Given the description of an element on the screen output the (x, y) to click on. 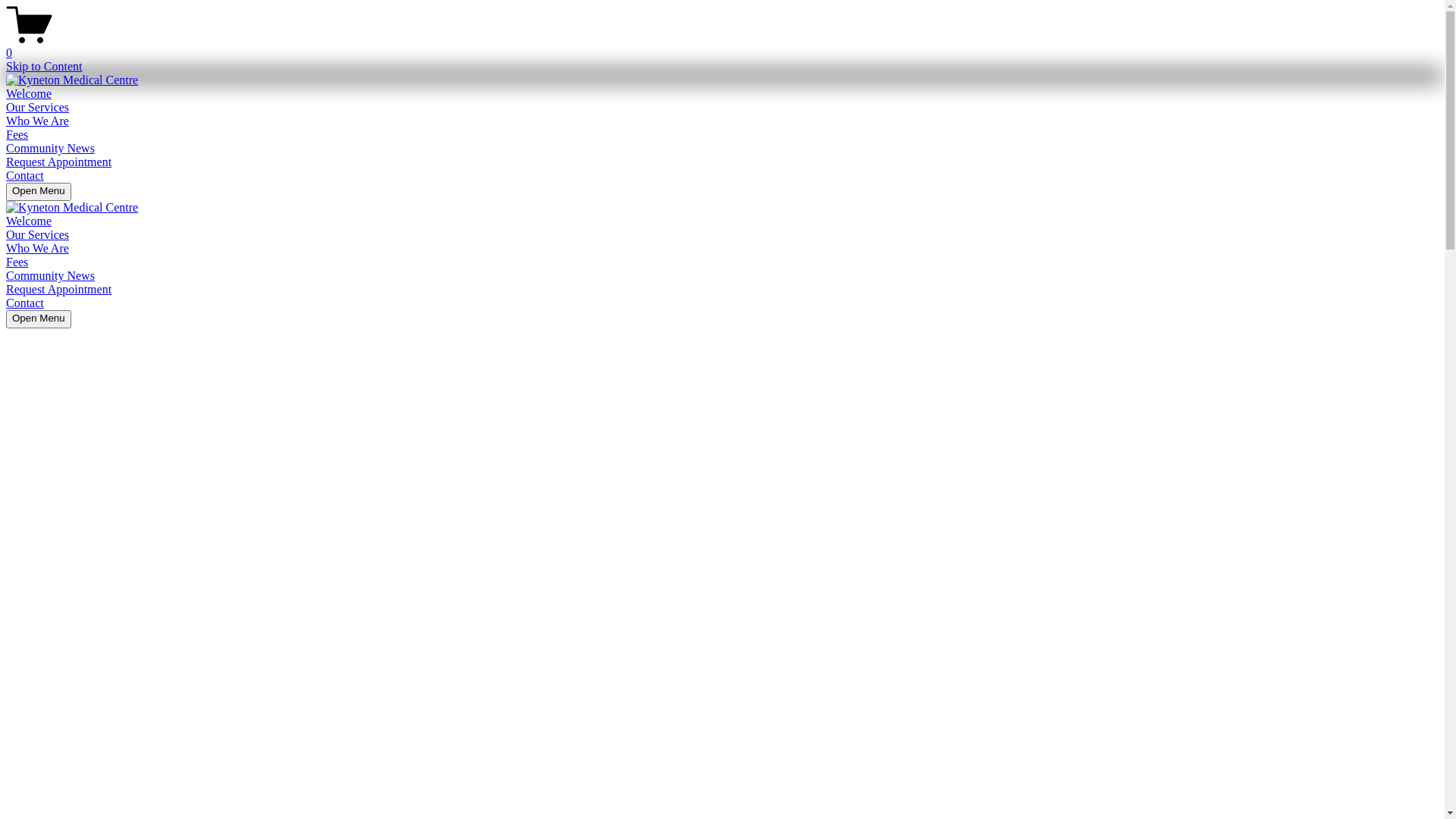
Request Appointment Element type: text (58, 161)
Open Menu Element type: text (38, 191)
Our Services Element type: text (37, 106)
0 Element type: text (722, 45)
Fees Element type: text (17, 261)
Contact Element type: text (24, 175)
Who We Are Element type: text (37, 120)
Skip to Content Element type: text (43, 65)
Community News Element type: text (50, 147)
Our Services Element type: text (37, 234)
Request Appointment Element type: text (58, 288)
Fees Element type: text (17, 134)
Contact Element type: text (24, 302)
Open Menu Element type: text (38, 319)
Welcome Element type: text (28, 93)
Community News Element type: text (50, 275)
Who We Are Element type: text (37, 247)
Welcome Element type: text (28, 220)
